Given the description of an element on the screen output the (x, y) to click on. 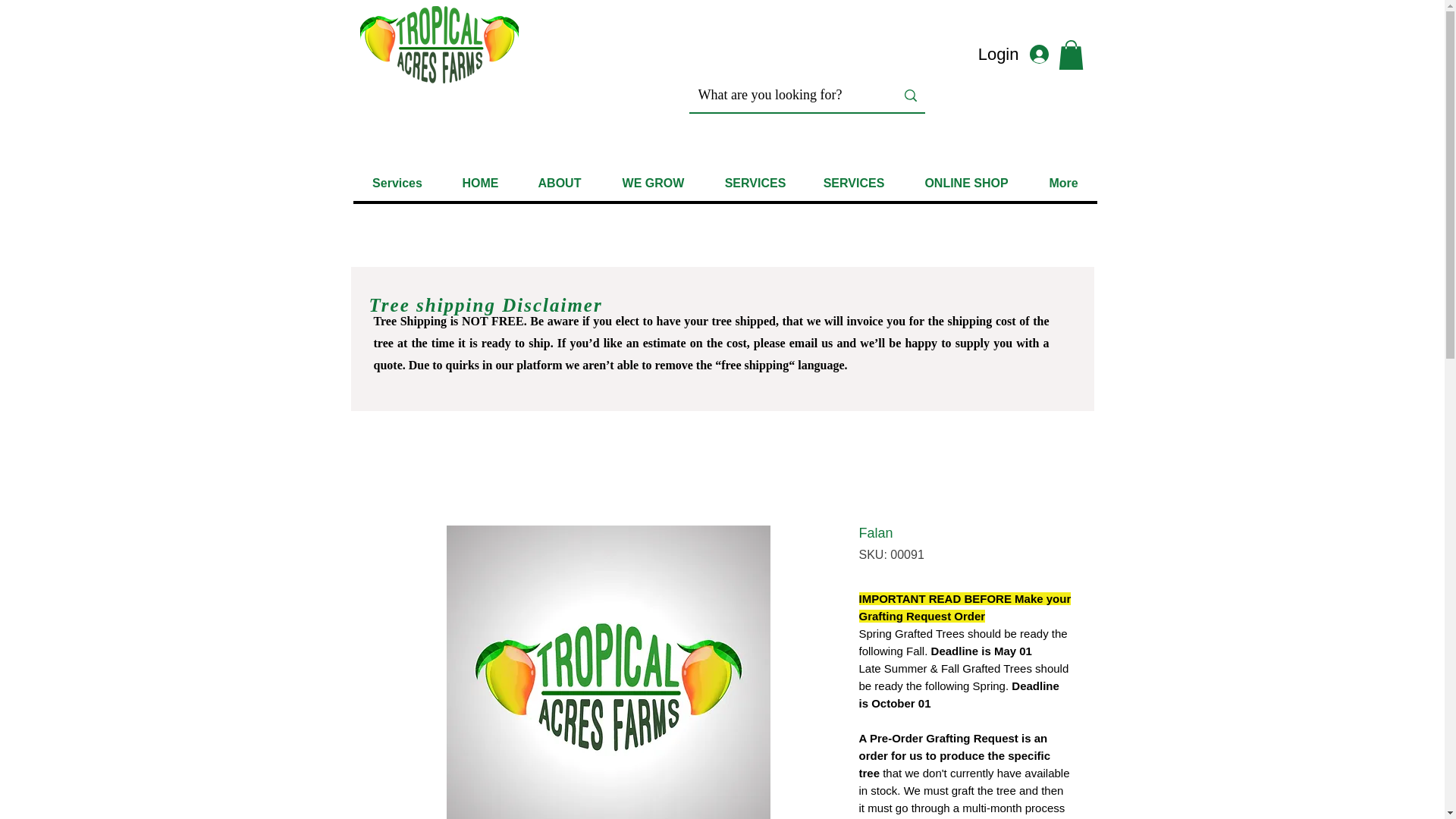
ONLINE SHOP (965, 182)
Services (397, 182)
SERVICES (753, 182)
HOME (479, 182)
Login (1020, 54)
ABOUT (558, 182)
